Given the description of an element on the screen output the (x, y) to click on. 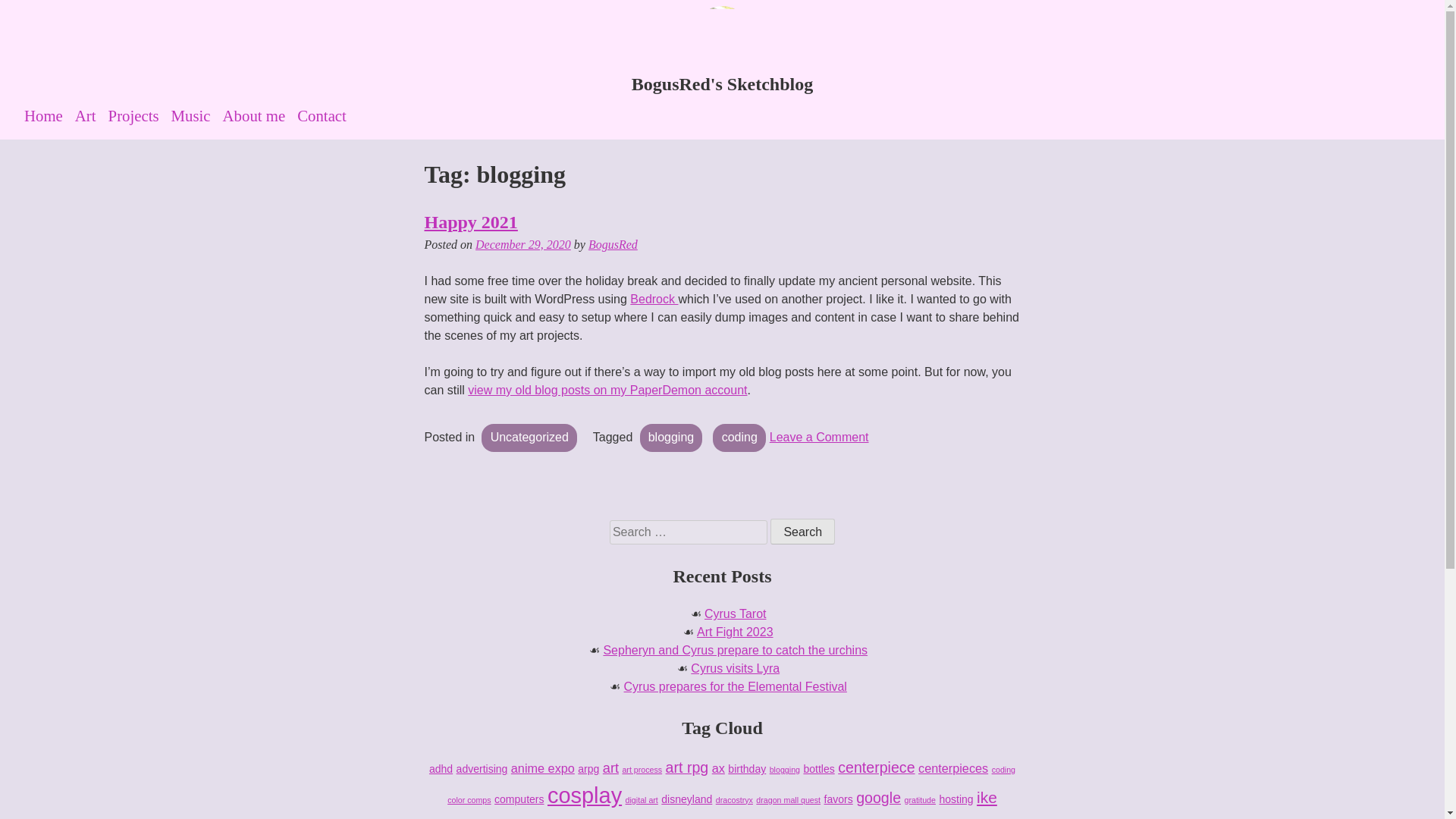
view my old blog posts on my PaperDemon account (606, 390)
Happy 2021 (471, 221)
coding (739, 438)
Art Fight 2023 (735, 631)
Home (819, 436)
Cyrus prepares for the Elemental Festival (49, 115)
arpg (735, 686)
Search (588, 768)
adhd (802, 531)
Projects (440, 768)
BogusRed's Sketchblog (139, 115)
Sepheryn and Cyrus prepare to catch the urchins (722, 83)
Search (734, 649)
blogging (802, 531)
